Given the description of an element on the screen output the (x, y) to click on. 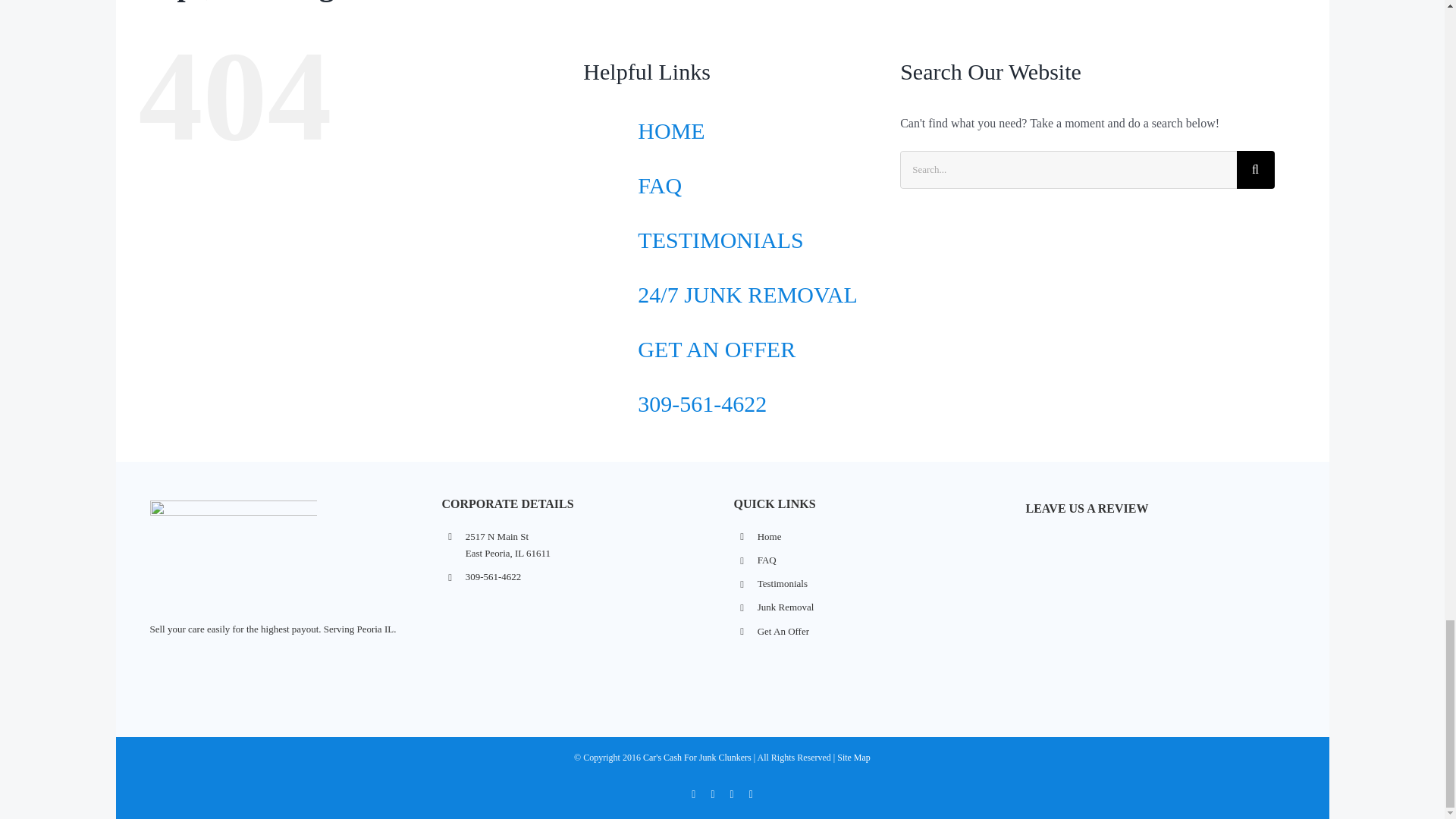
GET AN OFFER (715, 348)
Testimonials (880, 583)
TESTIMONIALS (720, 239)
Get An Offer (880, 631)
Site Map (853, 757)
FAQ (659, 185)
309-561-4622 (702, 403)
Junk Removal (588, 544)
Car's Cash For Junk Clunkers (880, 606)
